Given the description of an element on the screen output the (x, y) to click on. 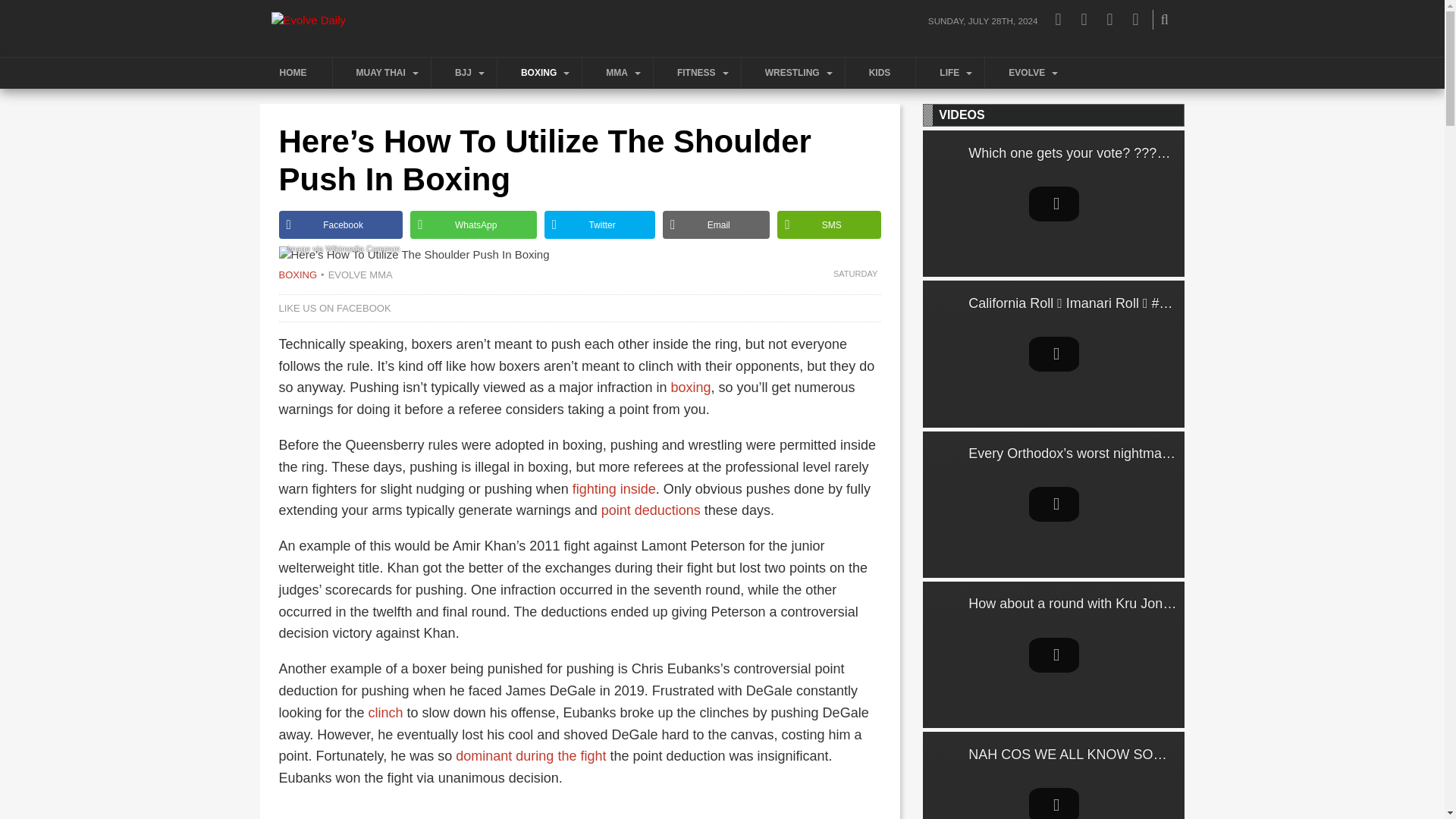
MUAY THAI (383, 72)
HOME (295, 72)
Boxing (298, 274)
Posts by Evolve MMA (356, 274)
